Given the description of an element on the screen output the (x, y) to click on. 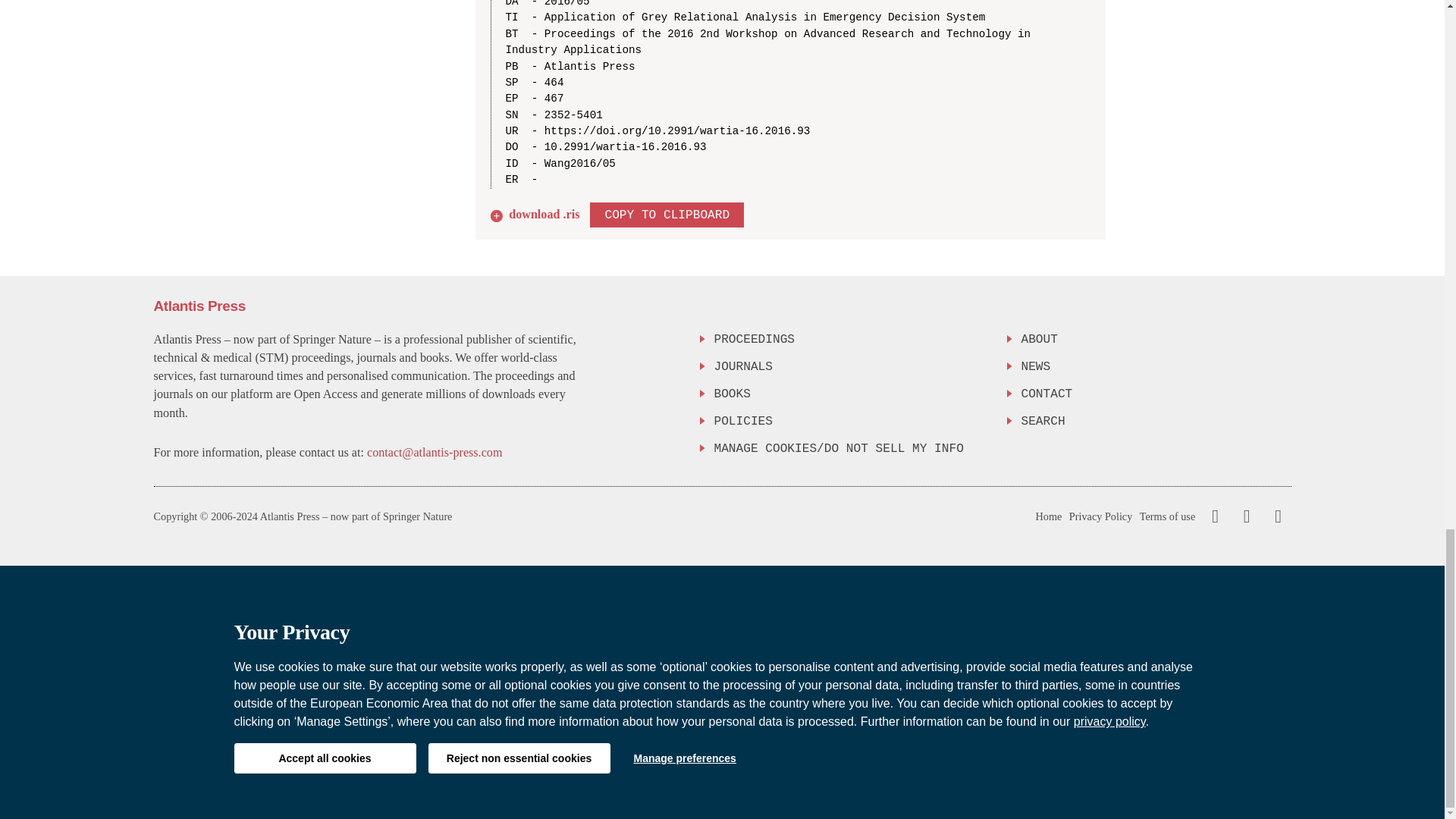
LinkedIn (1275, 516)
Facebook (1215, 516)
Twitter (1243, 516)
